Given the description of an element on the screen output the (x, y) to click on. 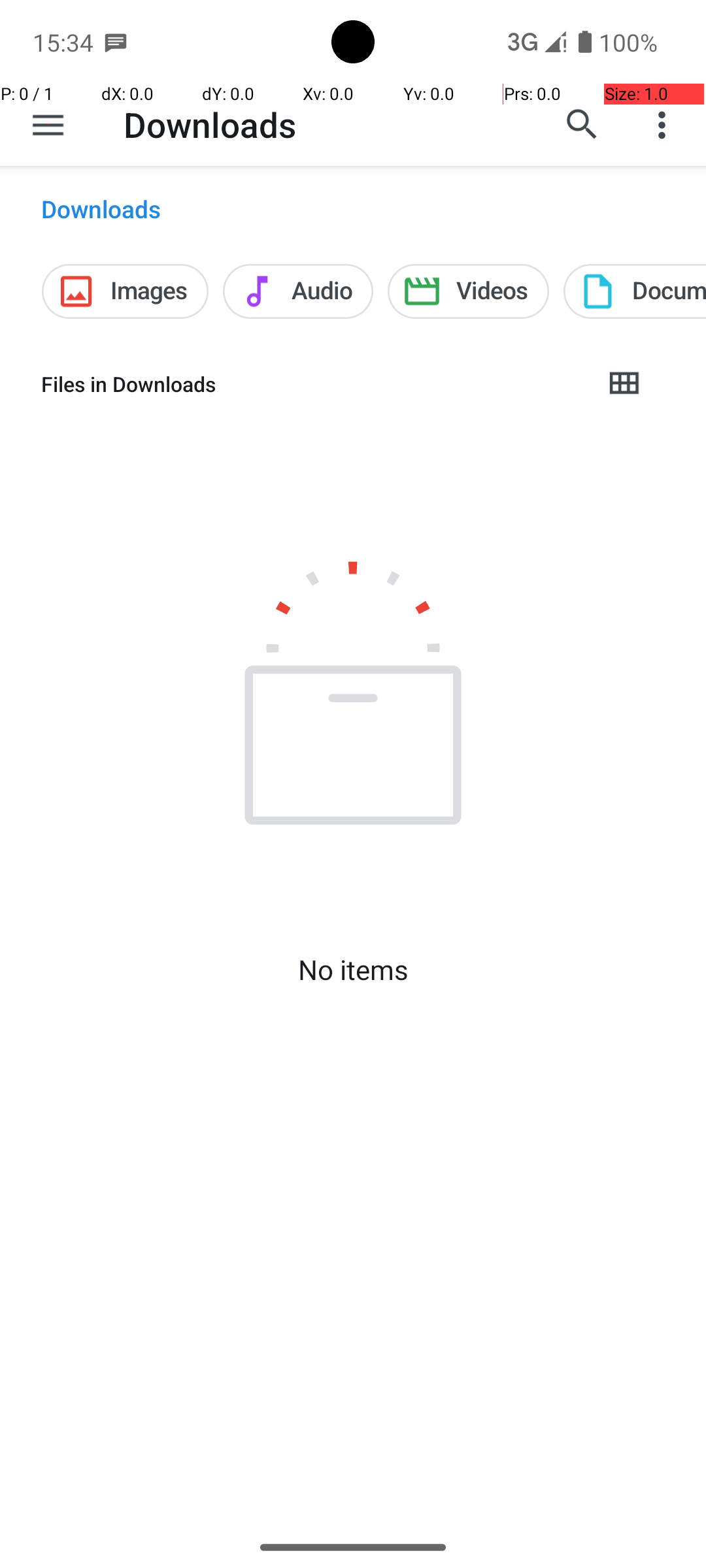
Downloads Element type: android.widget.TextView (209, 124)
Files in Downloads Element type: android.widget.TextView (311, 383)
Grid view Element type: android.widget.TextView (622, 384)
No items Element type: android.widget.TextView (353, 968)
